Given the description of an element on the screen output the (x, y) to click on. 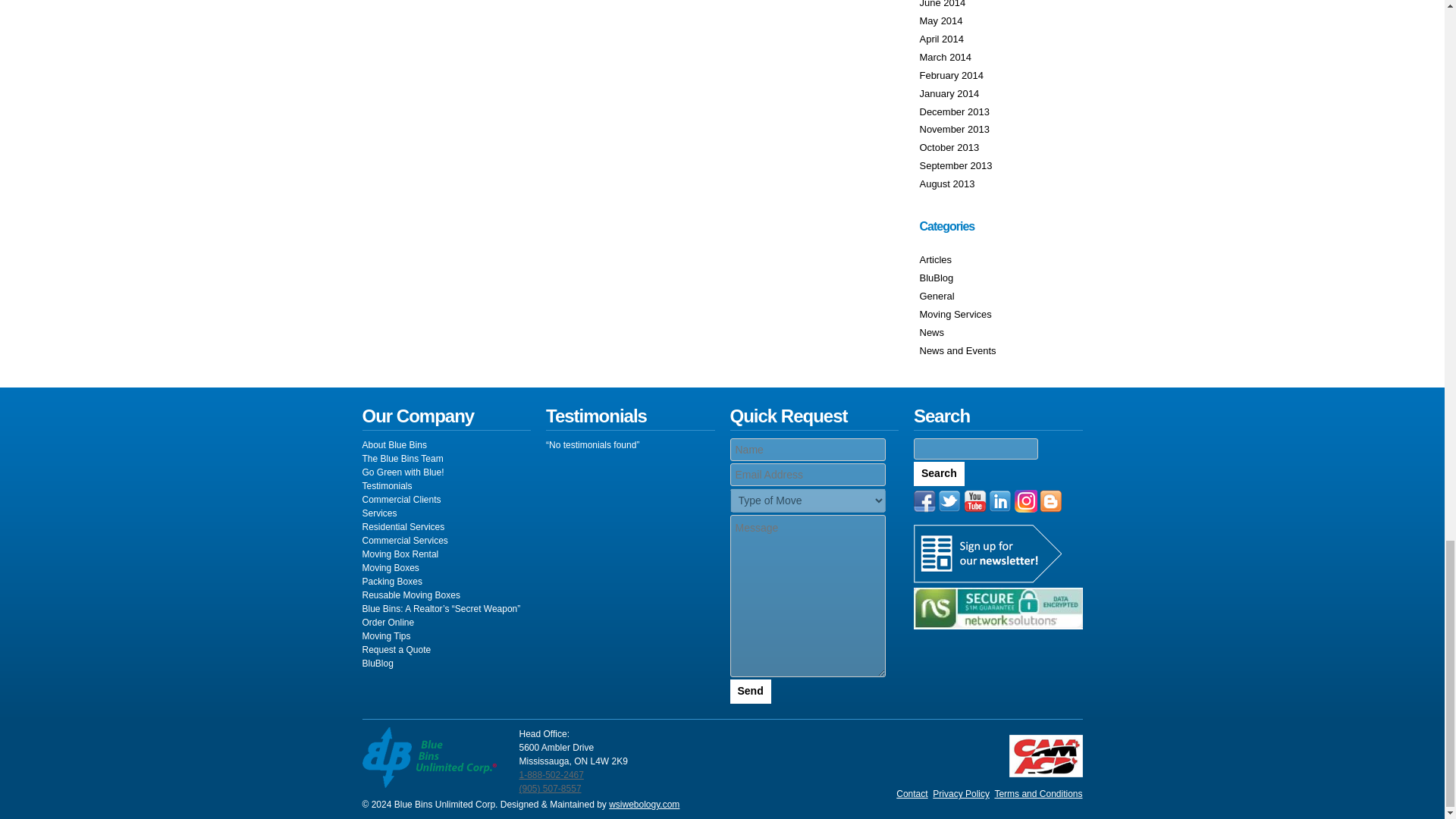
Search (938, 473)
Read our latest environmental articles (935, 259)
Check out the latest BlueBlog News and Events! (956, 350)
Blue Bins Helps You Make Your Move! (379, 512)
Send (749, 691)
